Given the description of an element on the screen output the (x, y) to click on. 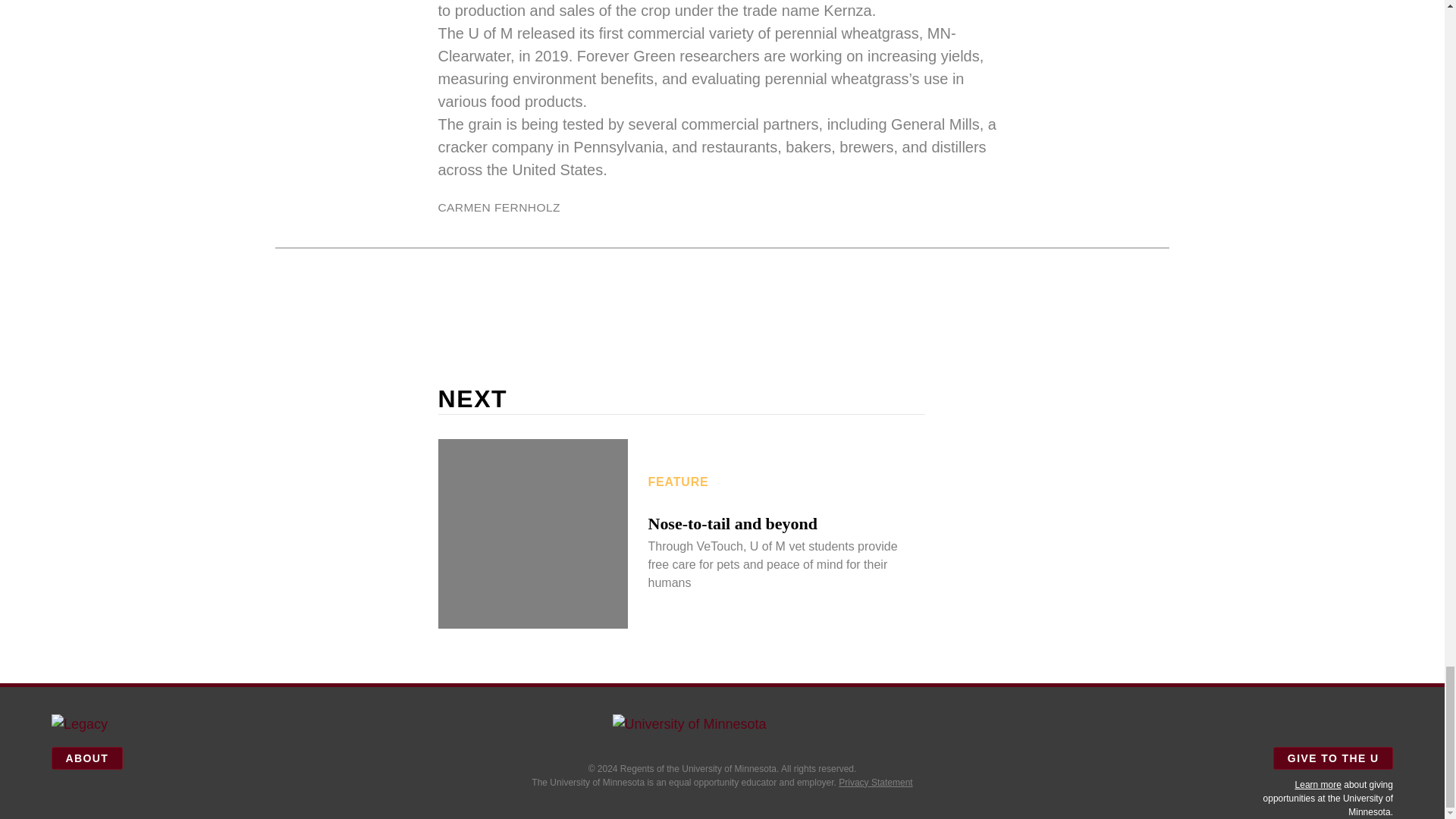
Privacy Statement (875, 782)
GIVE TO THE U (1332, 757)
Learn more (1317, 784)
ABOUT (86, 757)
